Given the description of an element on the screen output the (x, y) to click on. 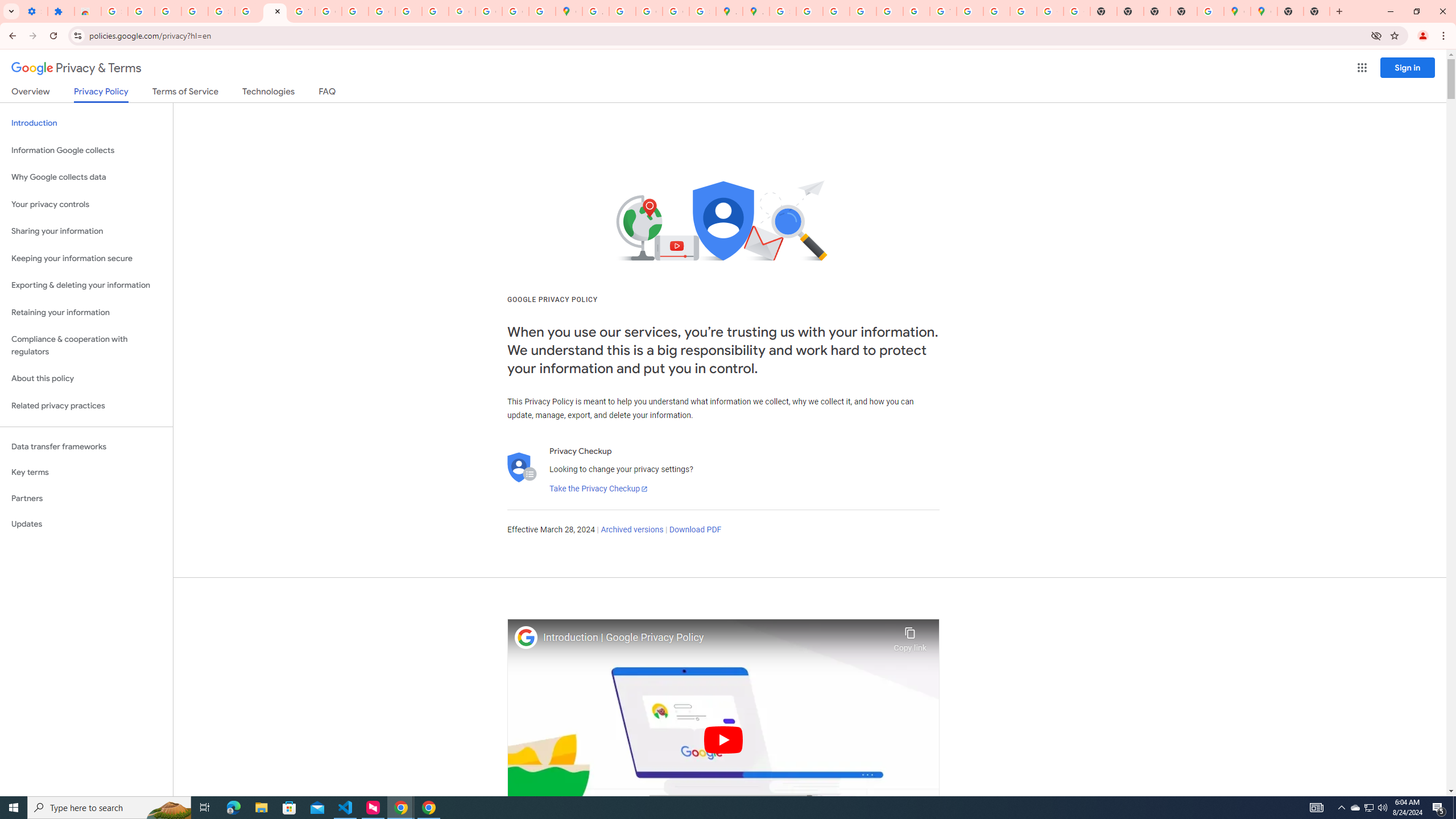
Download PDF (695, 529)
Keeping your information secure (86, 258)
Delete photos & videos - Computer - Google Photos Help (141, 11)
Safety in Our Products - Google Safety Center (702, 11)
